Given the description of an element on the screen output the (x, y) to click on. 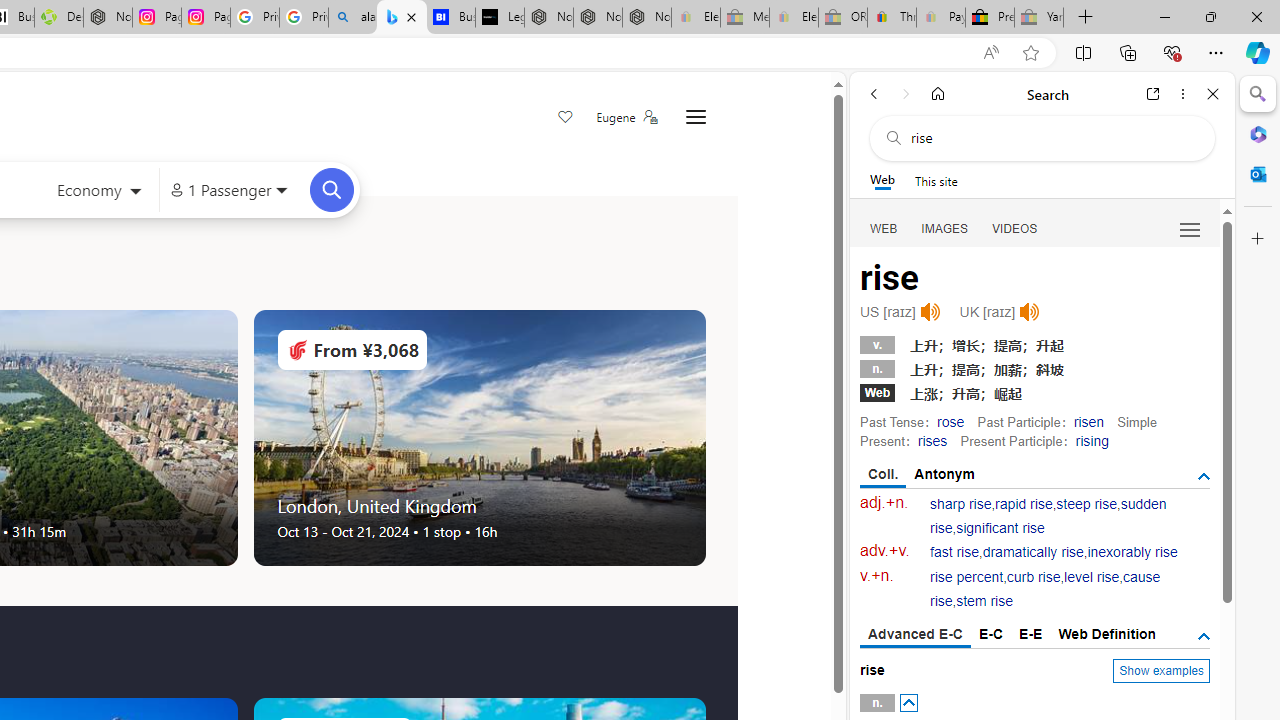
Preferences (1189, 228)
Save (565, 118)
sudden rise (1048, 515)
1 Passenger (228, 189)
level rise (1091, 577)
fast rise (955, 552)
Antonym (945, 473)
inexorably rise (1131, 552)
rising (1091, 440)
significant rise (1000, 528)
